Given the description of an element on the screen output the (x, y) to click on. 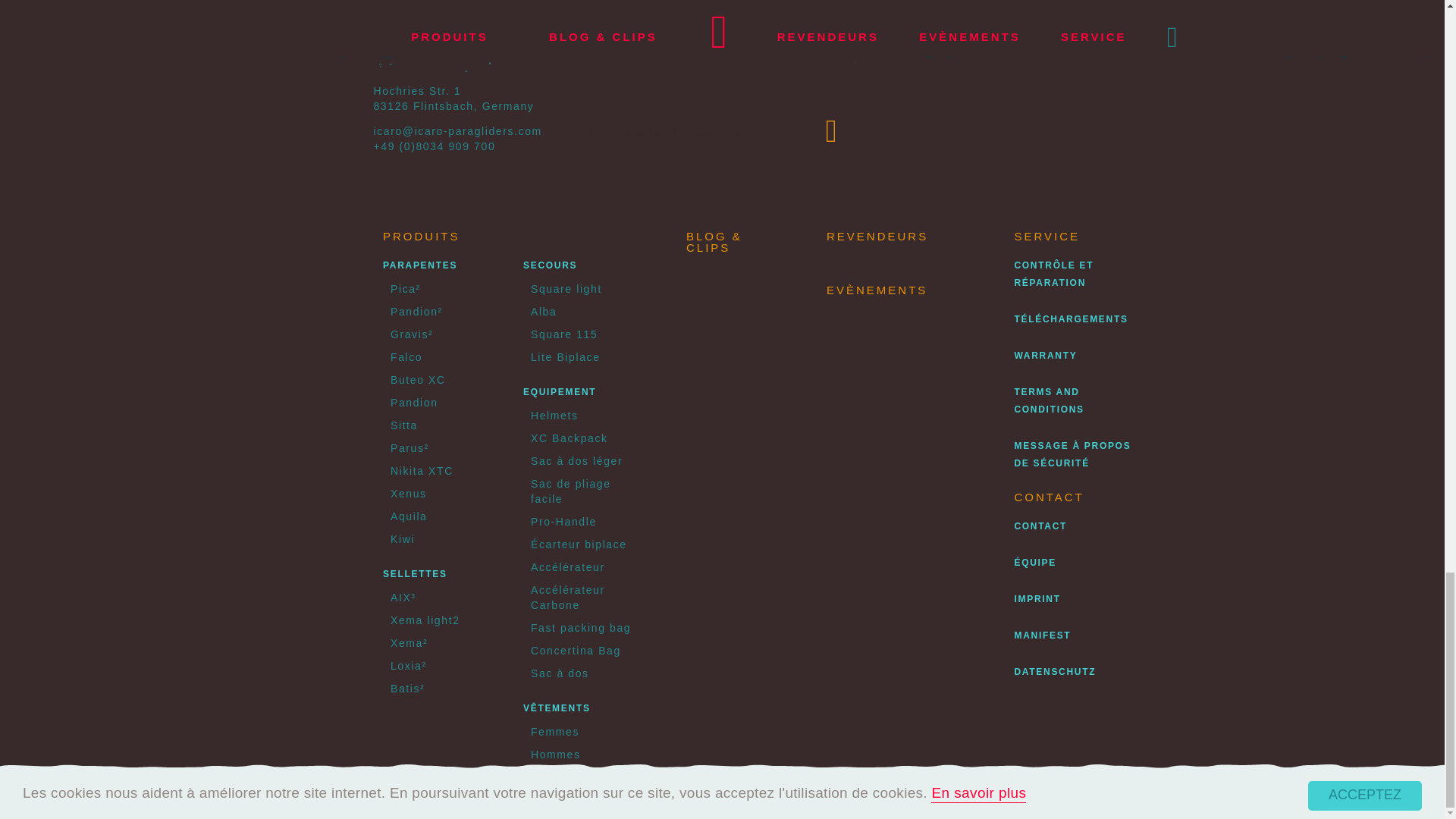
Terms and Conditions (1048, 400)
Manifest (1041, 634)
Imprint (1036, 598)
Contact (1040, 525)
Datenschutz (1054, 671)
Warranty (1045, 355)
